Given the description of an element on the screen output the (x, y) to click on. 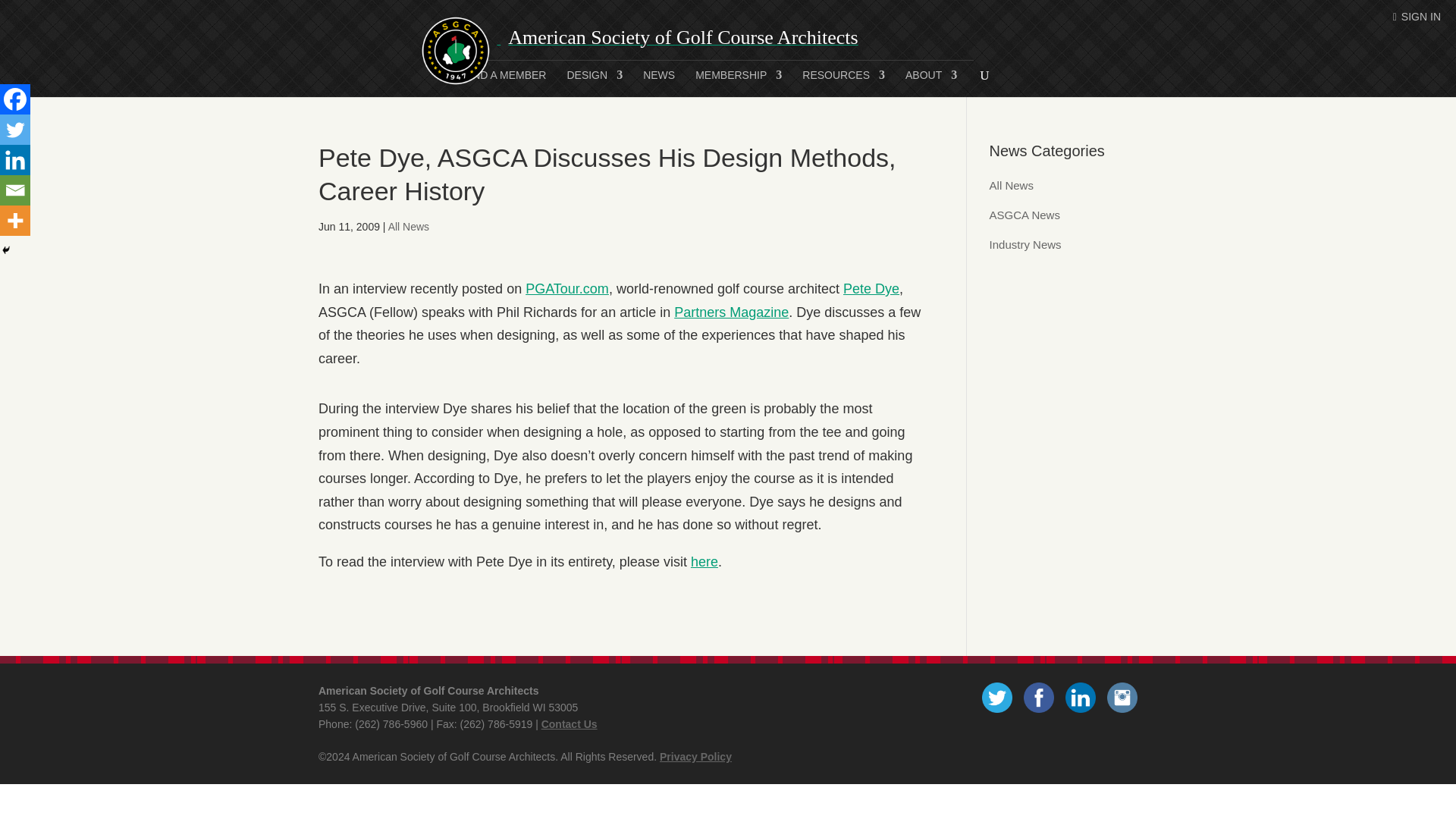
Twitter (15, 129)
MEMBERSHIP (738, 83)
RESOURCES (843, 83)
Linkedin (15, 159)
More (15, 220)
News category housing all News articles. (1011, 185)
ABOUT (930, 83)
Facebook (15, 99)
NEWS (659, 83)
Email (15, 190)
Hide (5, 250)
FIND A MEMBER (505, 83)
DESIGN (594, 83)
